Given the description of an element on the screen output the (x, y) to click on. 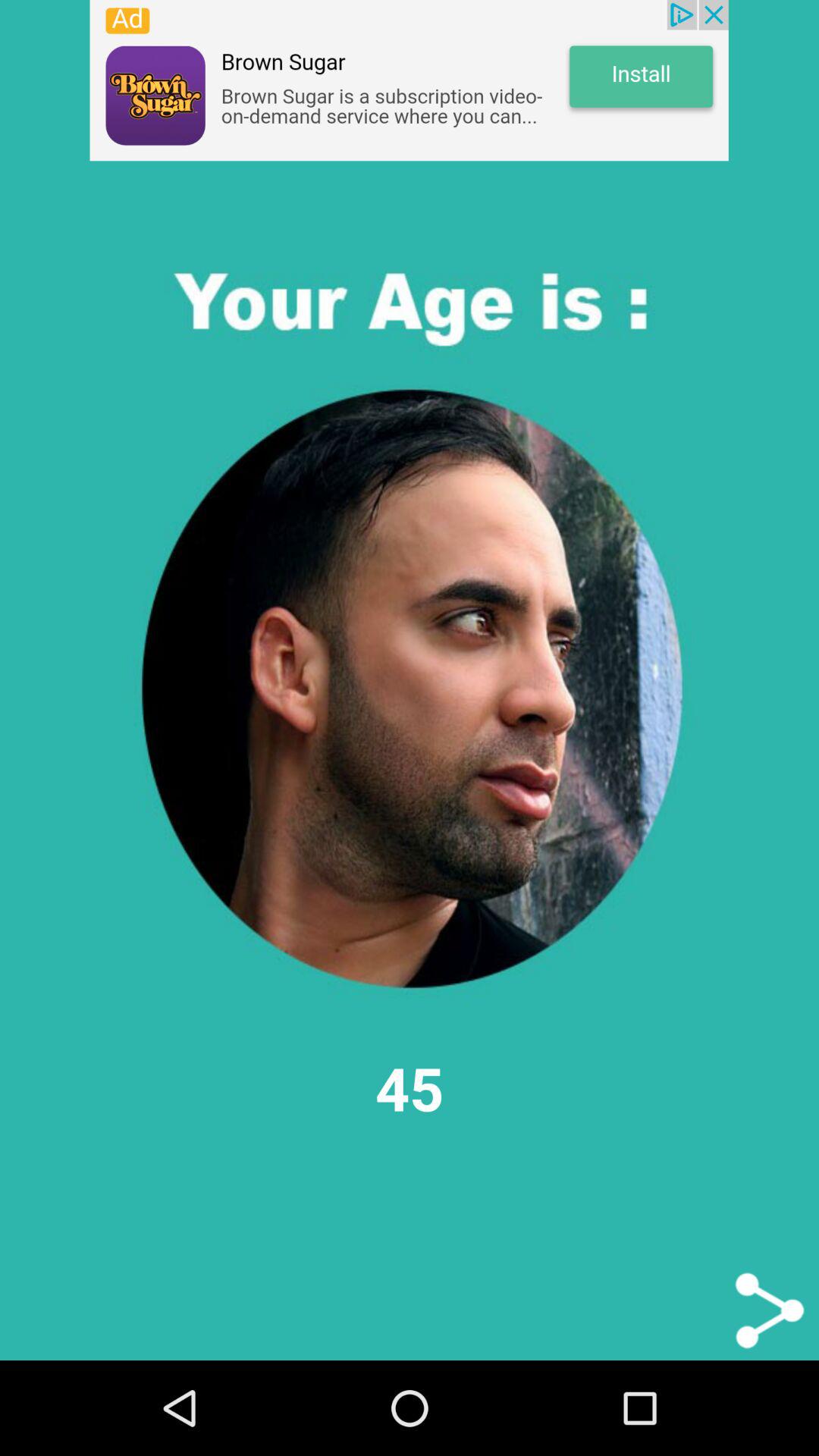
go to advertisement website (408, 80)
